Given the description of an element on the screen output the (x, y) to click on. 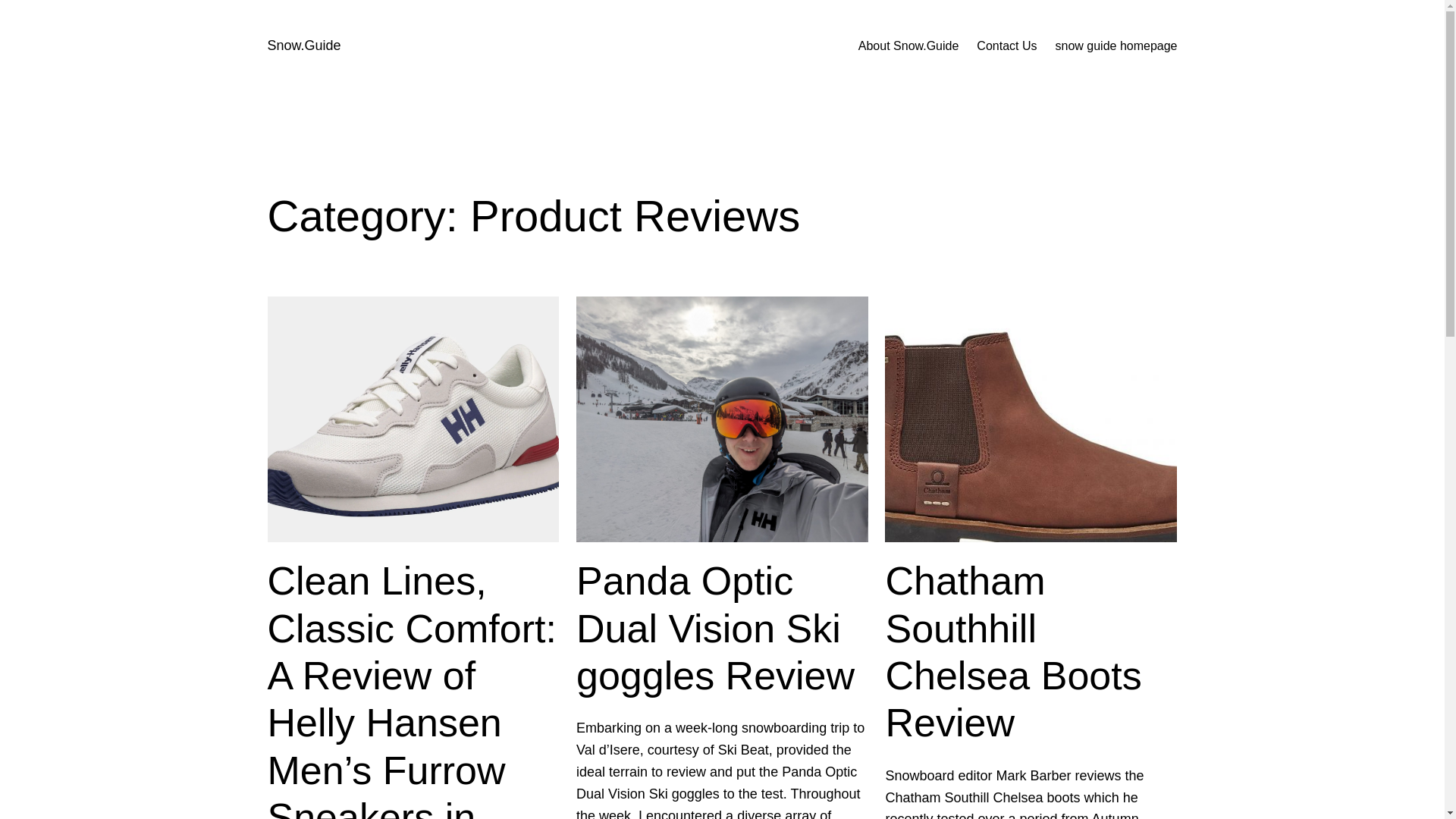
Chatham Southhill Chelsea Boots Review (1030, 651)
snow guide homepage (1115, 46)
Panda Optic Dual Vision Ski goggles Review (721, 628)
Contact Us (1006, 46)
Snow.Guide (303, 45)
About Snow.Guide (909, 46)
